Given the description of an element on the screen output the (x, y) to click on. 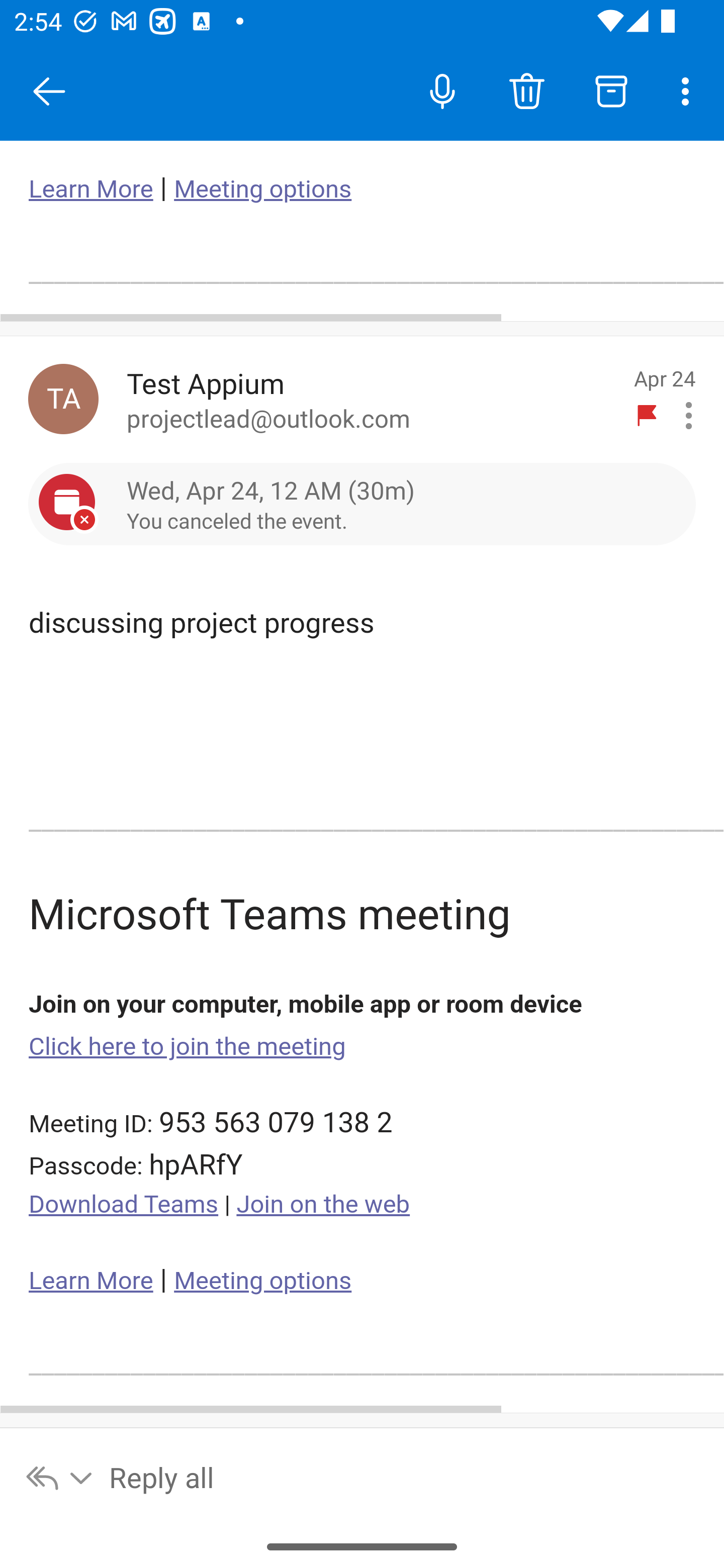
Close (49, 91)
Delete (526, 90)
Archive (611, 90)
More options (688, 90)
Learn More (90, 189)
Meeting options (262, 189)
Test Appium, testappium002@outlook.com (63, 398)
Test Appium
to projectlead@outlook.com (372, 398)
Message actions (688, 416)
Click here to join the meeting (187, 1046)
Download Teams (124, 1204)
Join on the web (323, 1204)
Learn More (90, 1280)
Meeting options (262, 1280)
Reply options (59, 1476)
